Given the description of an element on the screen output the (x, y) to click on. 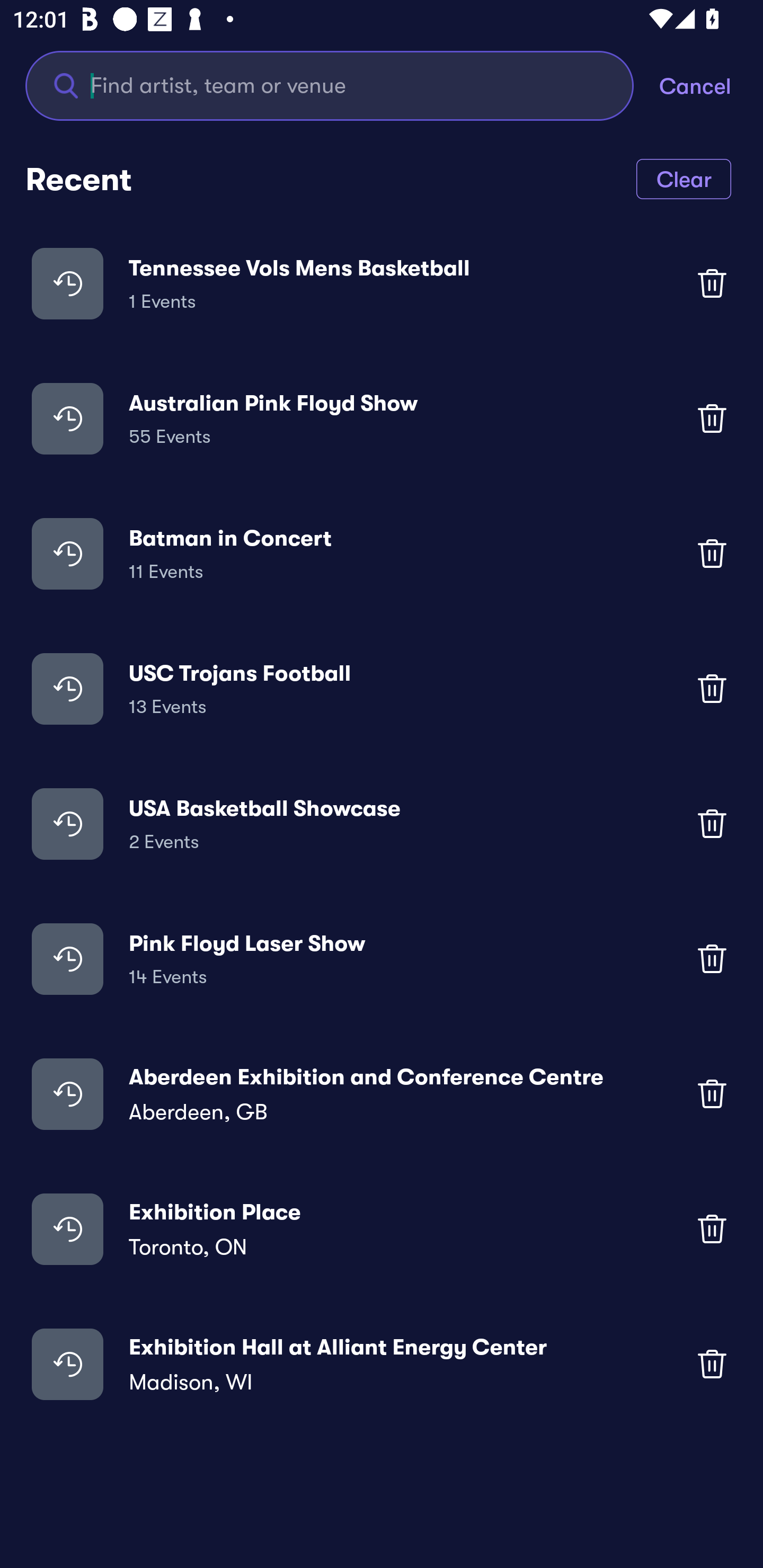
Cancel (711, 85)
Find artist, team or venue Find (329, 85)
Find artist, team or venue Find (341, 85)
Clear (683, 178)
Tennessee Vols Mens Basketball 1 Events (381, 282)
Australian Pink Floyd Show 55 Events (381, 417)
Batman in Concert 11 Events (381, 553)
USC Trojans Football 13 Events (381, 688)
USA Basketball Showcase 2 Events (381, 823)
Pink Floyd Laser Show 14 Events (381, 958)
Exhibition Place Toronto, ON (381, 1228)
